Given the description of an element on the screen output the (x, y) to click on. 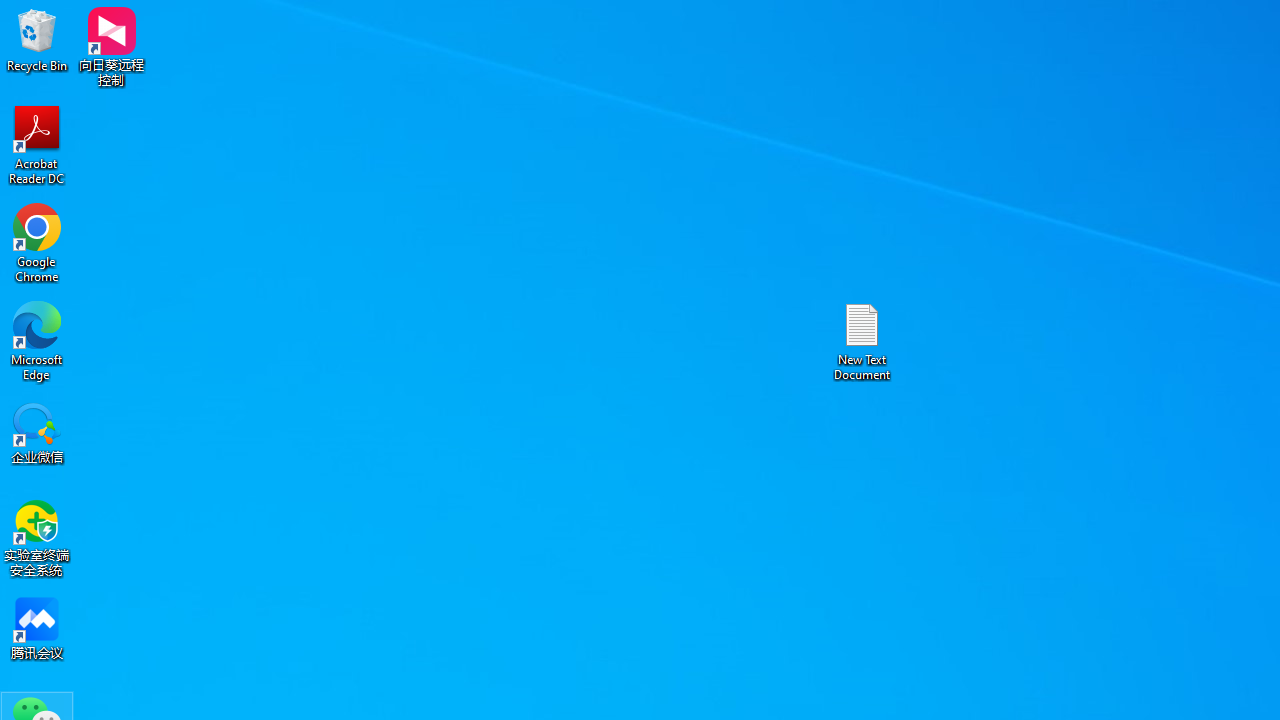
Google Chrome (37, 242)
Recycle Bin (37, 39)
Acrobat Reader DC (37, 144)
New Text Document (861, 340)
Microsoft Edge (37, 340)
